Given the description of an element on the screen output the (x, y) to click on. 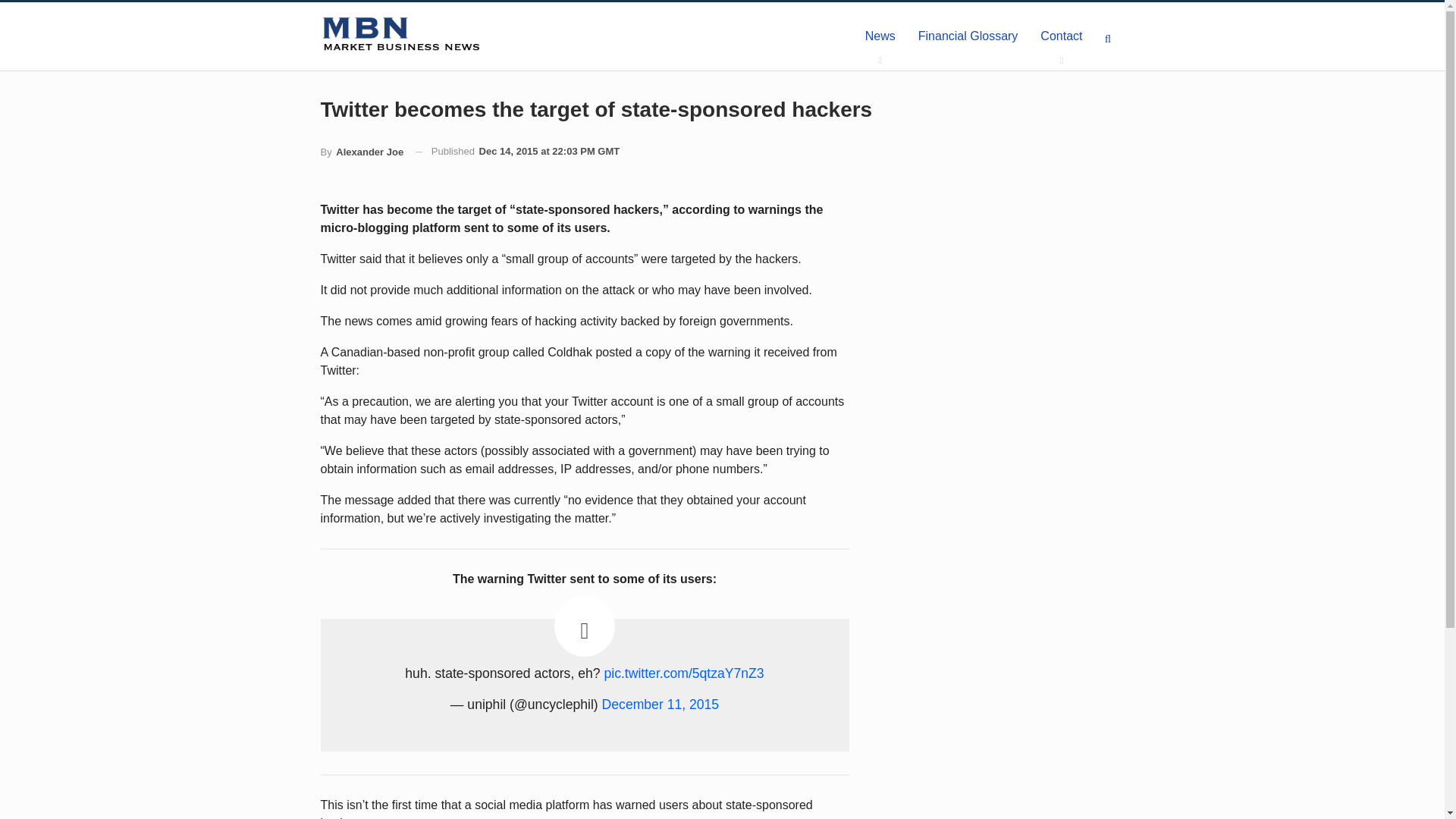
Financial Glossary (968, 36)
News (880, 36)
December 11, 2015 (660, 703)
By Alexander Joe (361, 152)
Contact (1061, 36)
Browse Author Articles (361, 152)
